Given the description of an element on the screen output the (x, y) to click on. 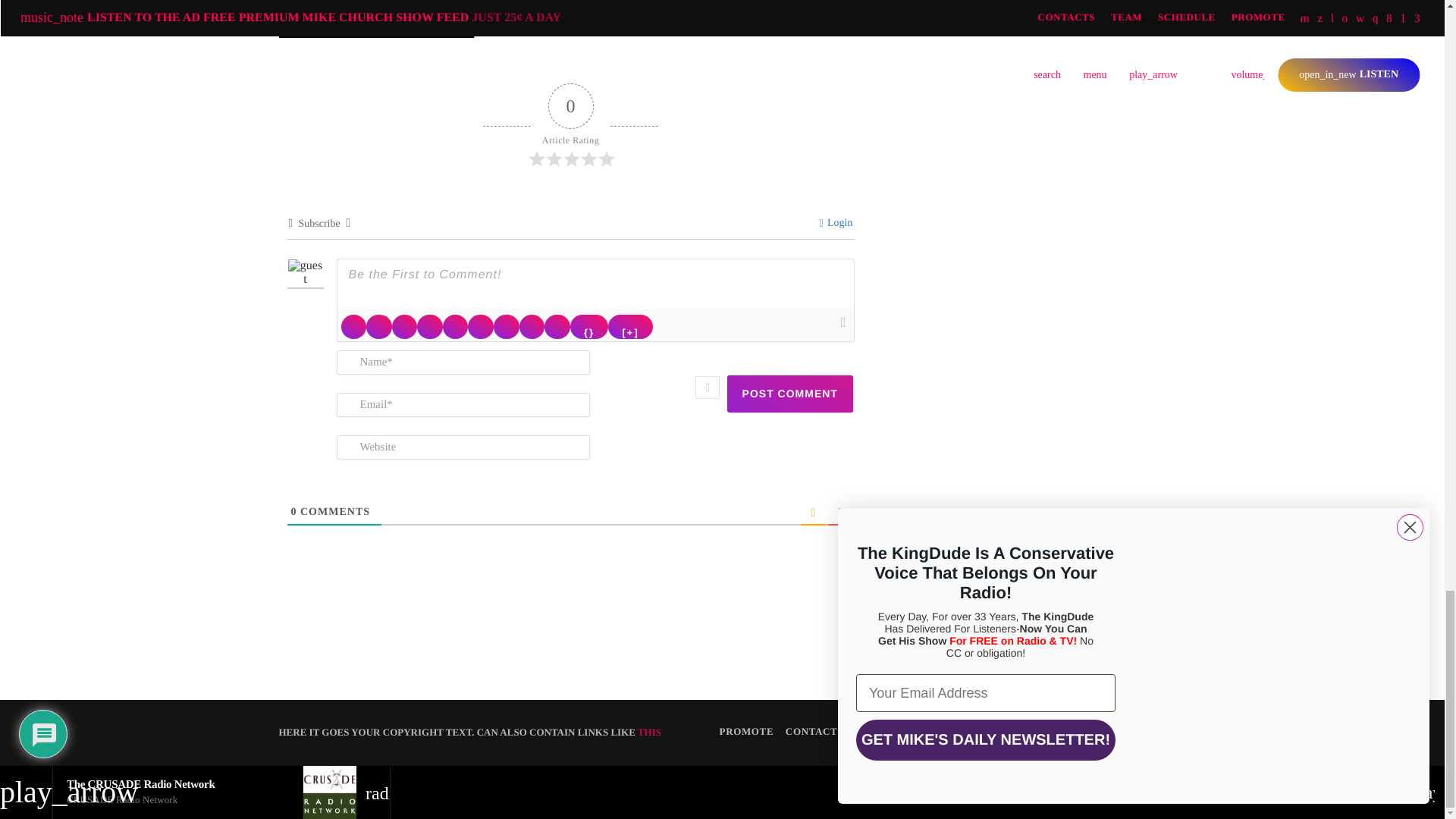
Spoiler (630, 326)
Code Block (531, 326)
Source Code (589, 326)
Underline (404, 326)
Bold (353, 326)
Blockquote (506, 326)
Unordered List (480, 326)
Italic (378, 326)
Link (557, 326)
Post Comment (789, 393)
Ordered List (455, 326)
Strike (429, 326)
